Given the description of an element on the screen output the (x, y) to click on. 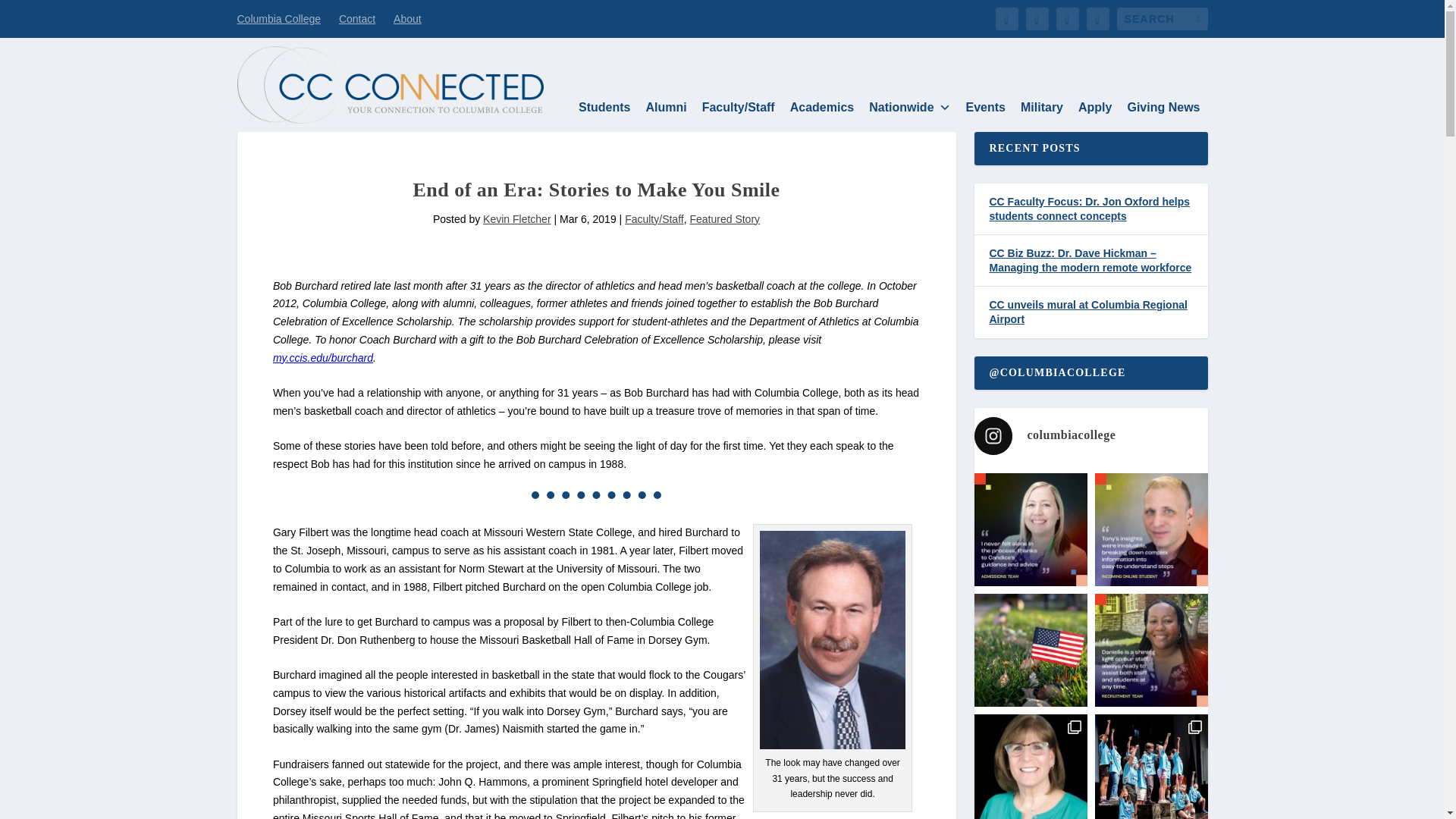
Nationwide (909, 107)
Academics (822, 107)
Posts by Kevin Fletcher (516, 218)
Alumni (665, 107)
Columbia College (277, 18)
Students (603, 107)
Contact (357, 18)
Search for: (1161, 18)
